Given the description of an element on the screen output the (x, y) to click on. 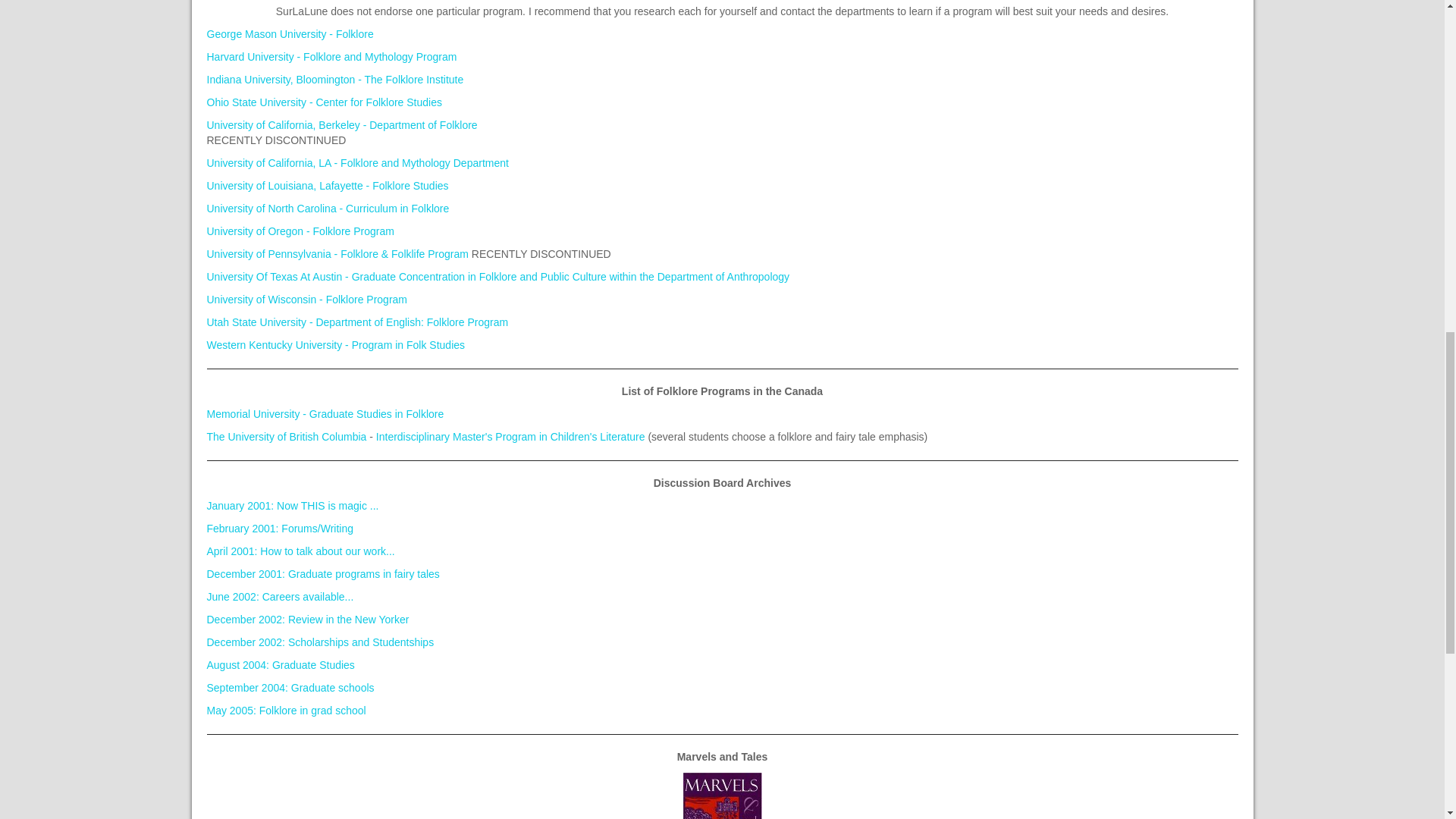
Harvard University - Folklore and Mythology Program (331, 56)
The University of British Columbia (286, 436)
Interdisciplinary Master's Program in Children's Literature (510, 436)
University of California, Berkeley - Department of Folklore (341, 124)
University of Oregon - Folklore Program (299, 231)
April 2001: How to talk about our work... (300, 551)
Ohio State University - Center for Folklore Studies (323, 102)
George Mason University - Folklore (289, 33)
